Given the description of an element on the screen output the (x, y) to click on. 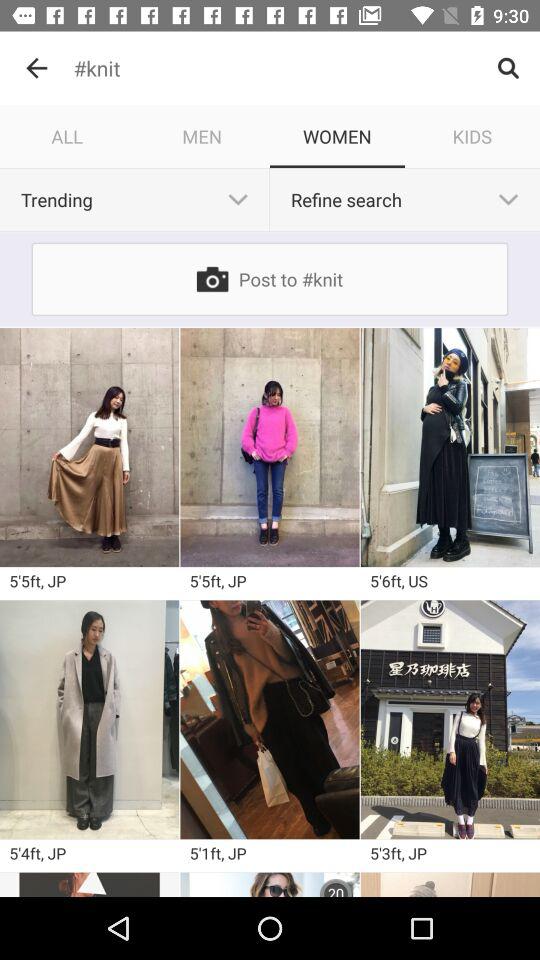
select photo (450, 447)
